Given the description of an element on the screen output the (x, y) to click on. 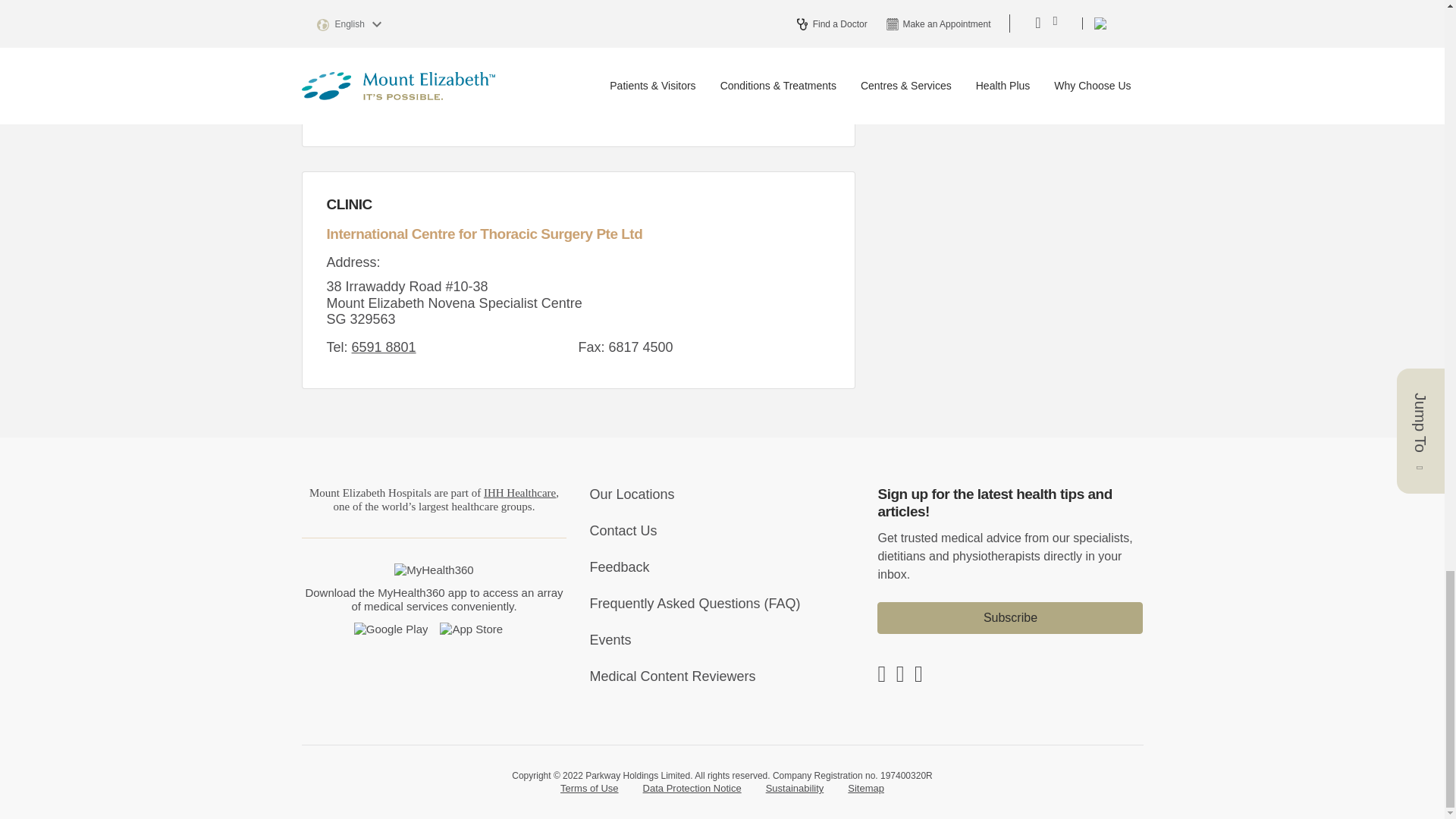
Clinic Telephone Number (384, 346)
24-hour helpline: (371, 30)
Email: (403, 87)
